Given the description of an element on the screen output the (x, y) to click on. 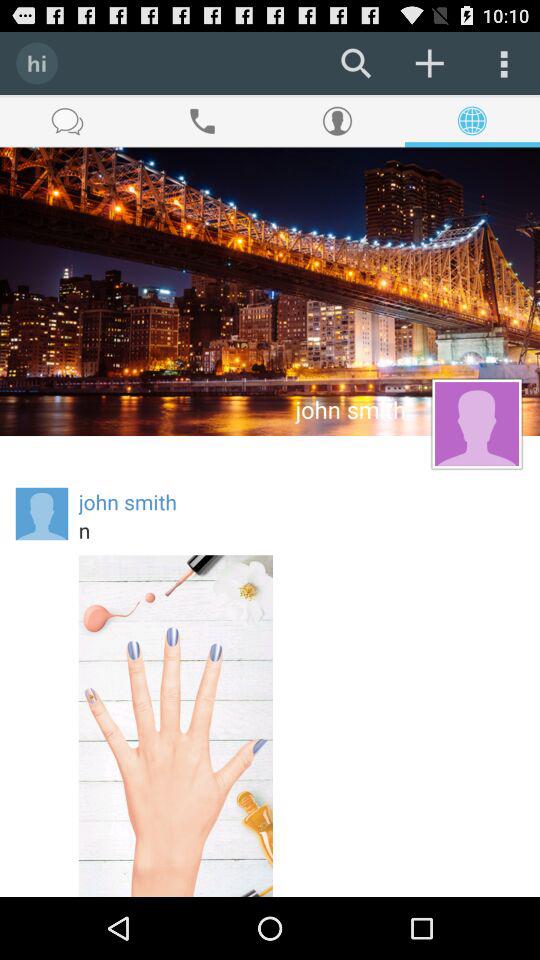
turn off the icon below n item (175, 725)
